Given the description of an element on the screen output the (x, y) to click on. 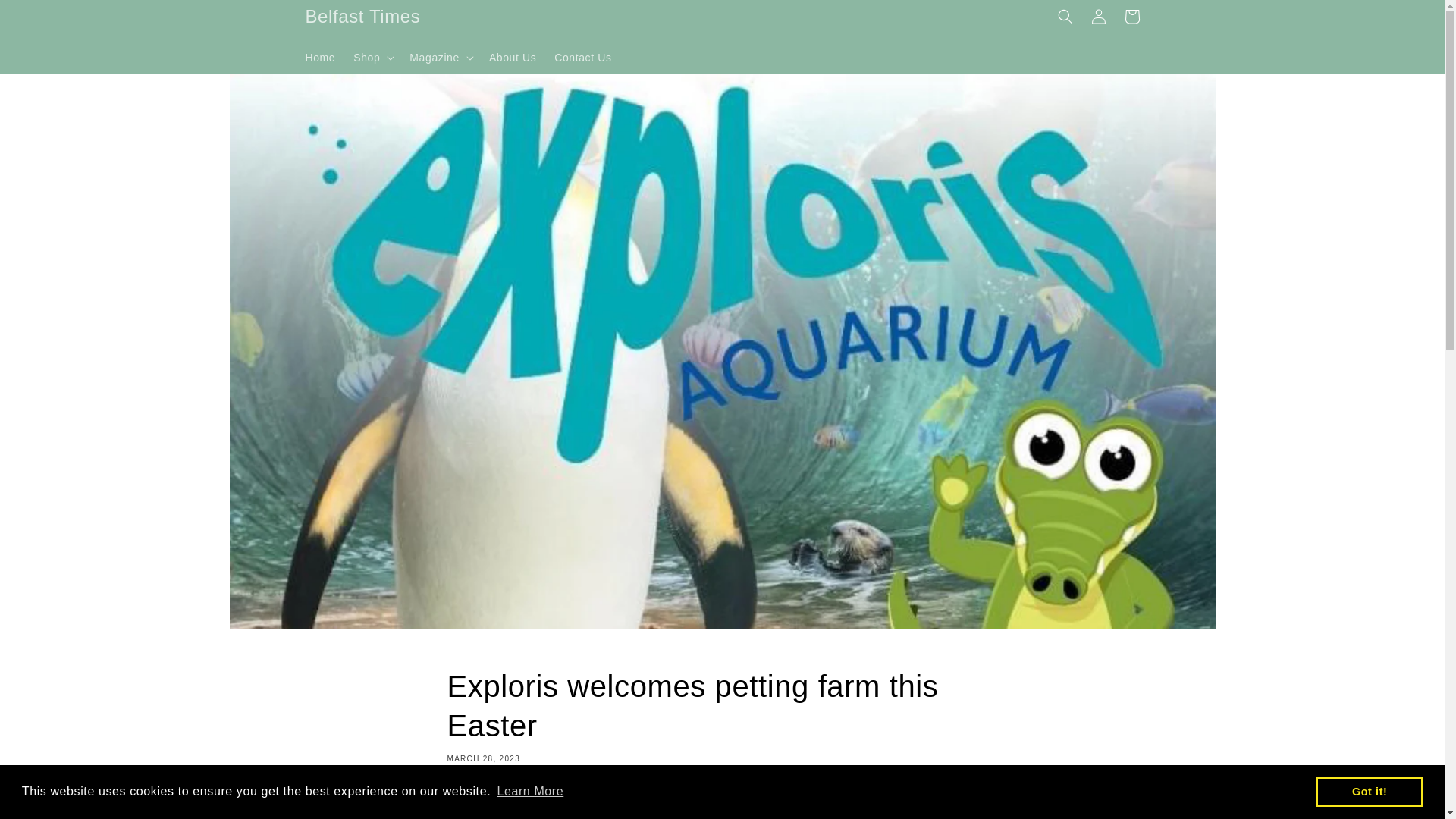
Got it! (1369, 791)
Skip to content (45, 17)
Belfast Times (362, 16)
Learn More (530, 791)
Home (319, 56)
